Given the description of an element on the screen output the (x, y) to click on. 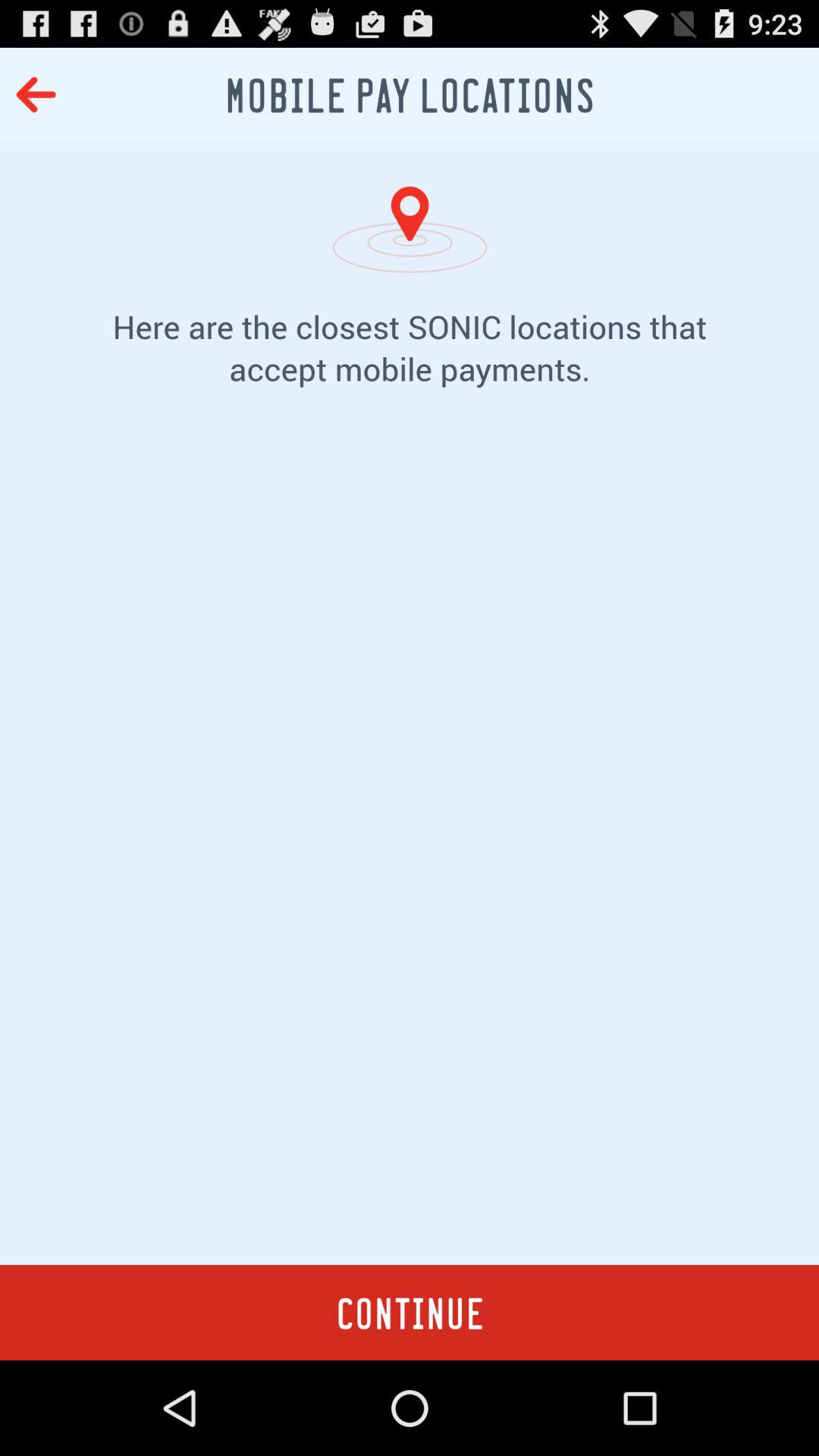
turn on the icon at the center (409, 848)
